Given the description of an element on the screen output the (x, y) to click on. 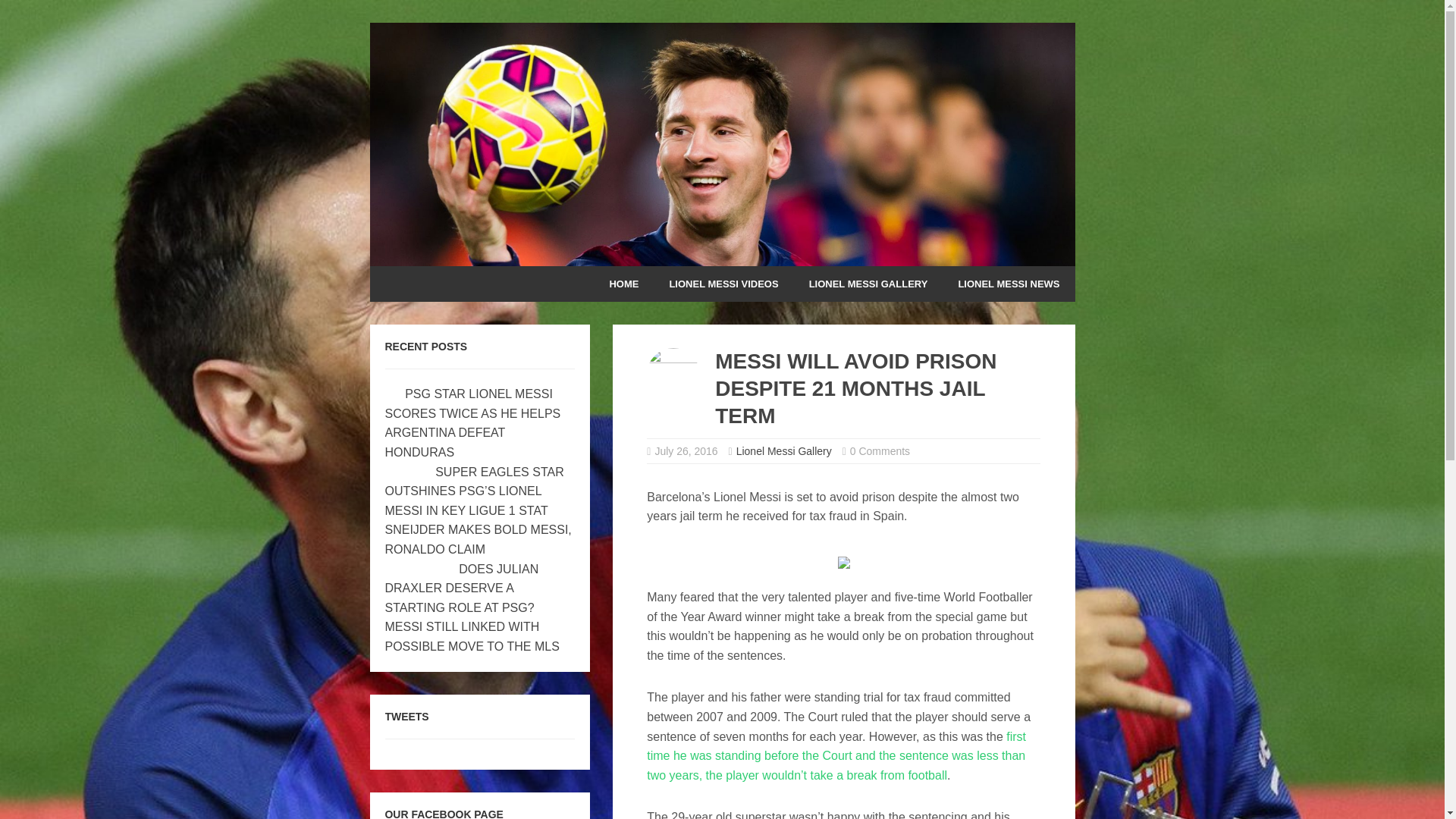
Lionel Messi Gallery (783, 451)
SNEIJDER MAKES BOLD MESSI, RONALDO CLAIM (478, 539)
I Love Lionel Messi (722, 256)
LIONEL MESSI GALLERY (868, 284)
HOME (623, 284)
MESSI STILL LINKED WITH POSSIBLE MOVE TO THE MLS (472, 635)
LIONEL MESSI NEWS (1008, 284)
LIONEL MESSI VIDEOS (723, 284)
